Given the description of an element on the screen output the (x, y) to click on. 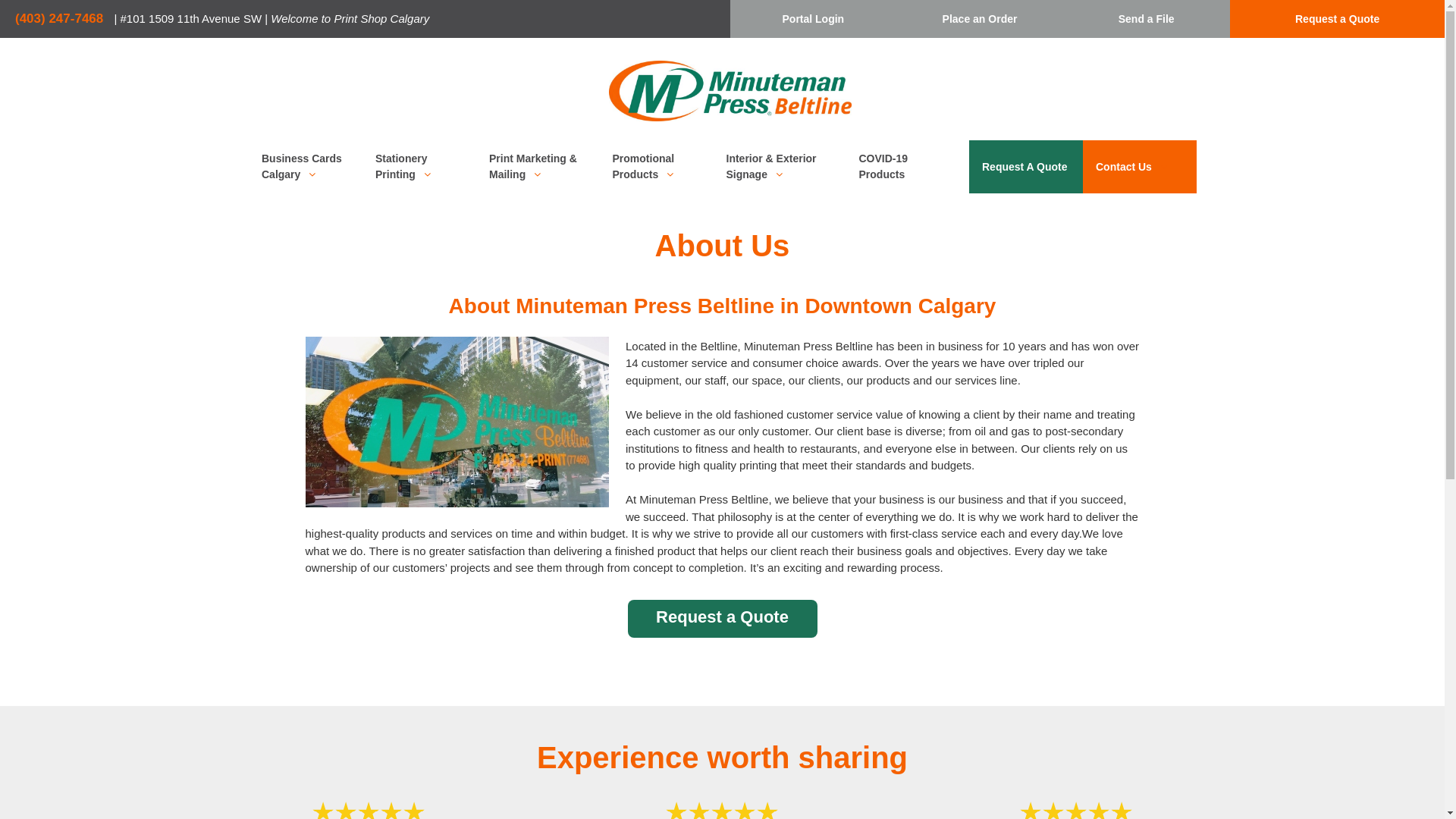
Place an Order (979, 18)
Portal Login (812, 18)
Business Cards Calgary (295, 166)
Stationery Printing (409, 166)
Send a File (1146, 18)
Client Login - Minuteman Press Beltline (812, 18)
Send a File to Minuteman Press in the Beltline (1146, 18)
Place an Order - Minuteman Press Beltline (979, 18)
Call Minuteman Press Beltline (62, 18)
